Given the description of an element on the screen output the (x, y) to click on. 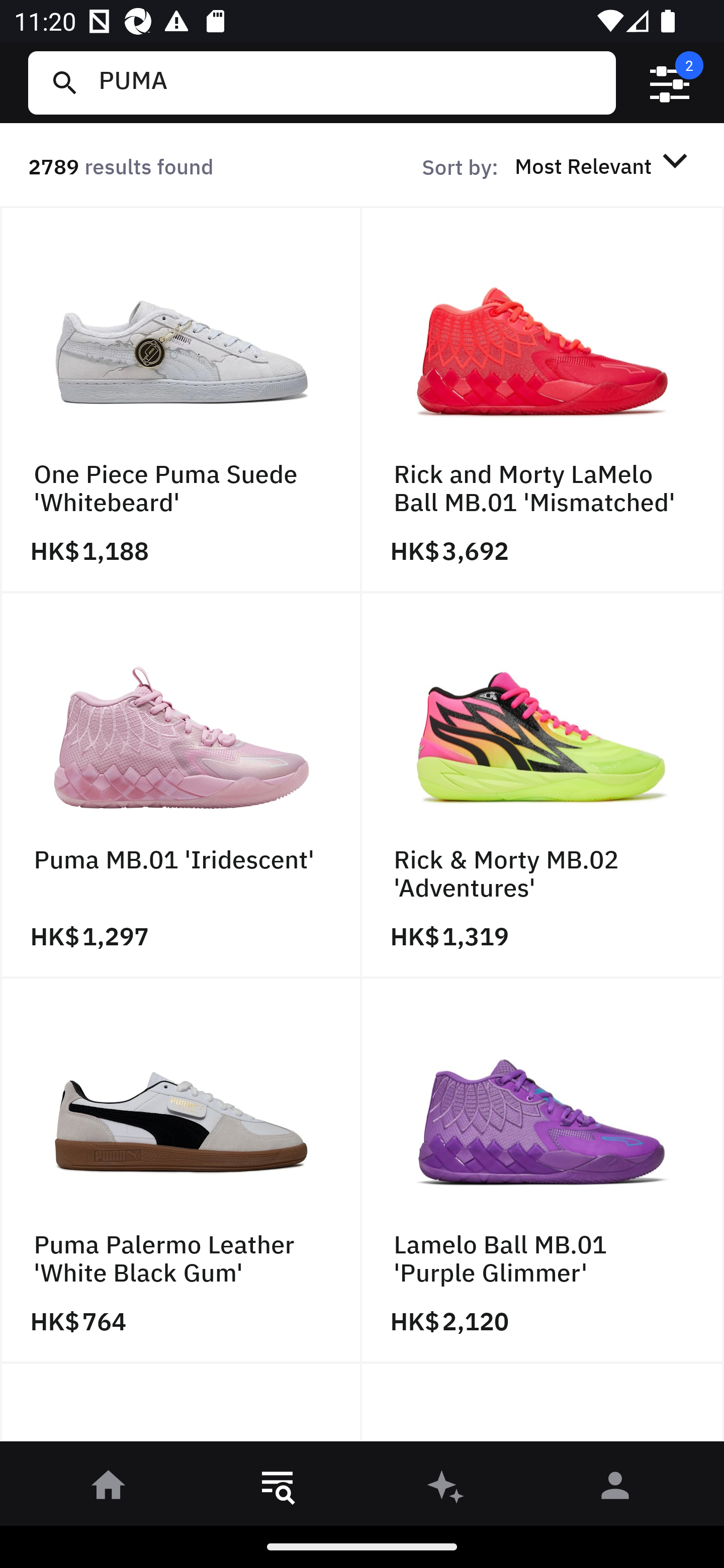
PUMA (349, 82)
 (669, 82)
Most Relevant  (604, 165)
One Piece Puma Suede 'Whitebeard' HK$ 1,188 (181, 399)
Puma MB.01 'Iridescent' HK$ 1,297 (181, 785)
Rick & Morty MB.02 'Adventures' HK$ 1,319 (543, 785)
Puma Palermo Leather 'White Black Gum' HK$ 764 (181, 1171)
Lamelo Ball MB.01 'Purple Glimmer' HK$ 2,120 (543, 1171)
󰋜 (108, 1488)
󱎸 (277, 1488)
󰫢 (446, 1488)
󰀄 (615, 1488)
